Given the description of an element on the screen output the (x, y) to click on. 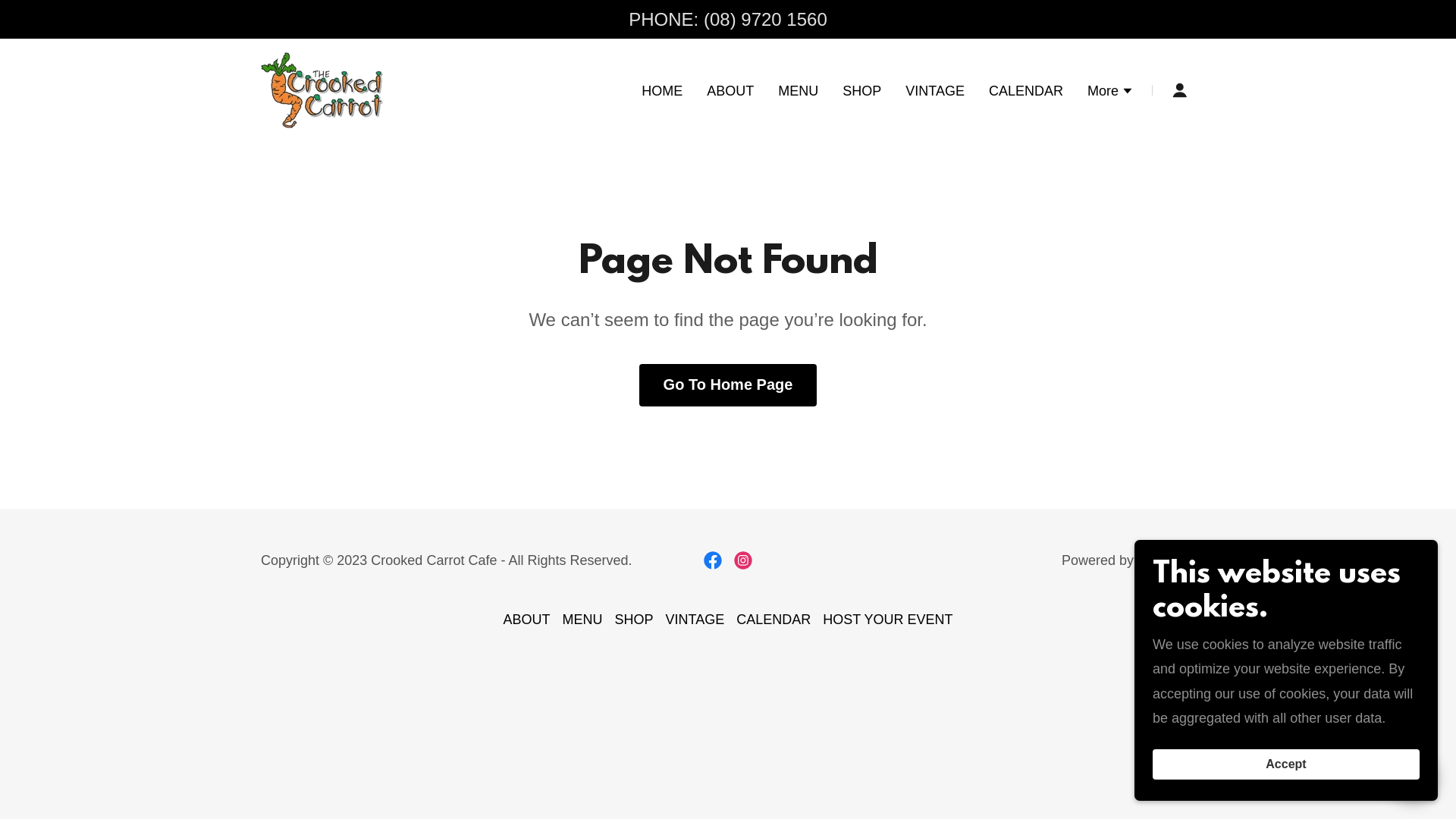
Go To Home Page Element type: text (728, 385)
The Crooked Carrot Cafe Element type: hover (322, 89)
GoDaddy Element type: text (1166, 559)
Accept Element type: text (1285, 764)
MENU Element type: text (797, 90)
SHOP Element type: text (633, 619)
VINTAGE Element type: text (694, 619)
CALENDAR Element type: text (773, 619)
ABOUT Element type: text (525, 619)
More Element type: text (1110, 92)
VINTAGE Element type: text (934, 90)
(08) 9720 1560 Element type: text (765, 19)
SHOP Element type: text (861, 90)
CALENDAR Element type: text (1025, 90)
HOST YOUR EVENT Element type: text (887, 619)
HOME Element type: text (662, 90)
MENU Element type: text (581, 619)
ABOUT Element type: text (730, 90)
